Given the description of an element on the screen output the (x, y) to click on. 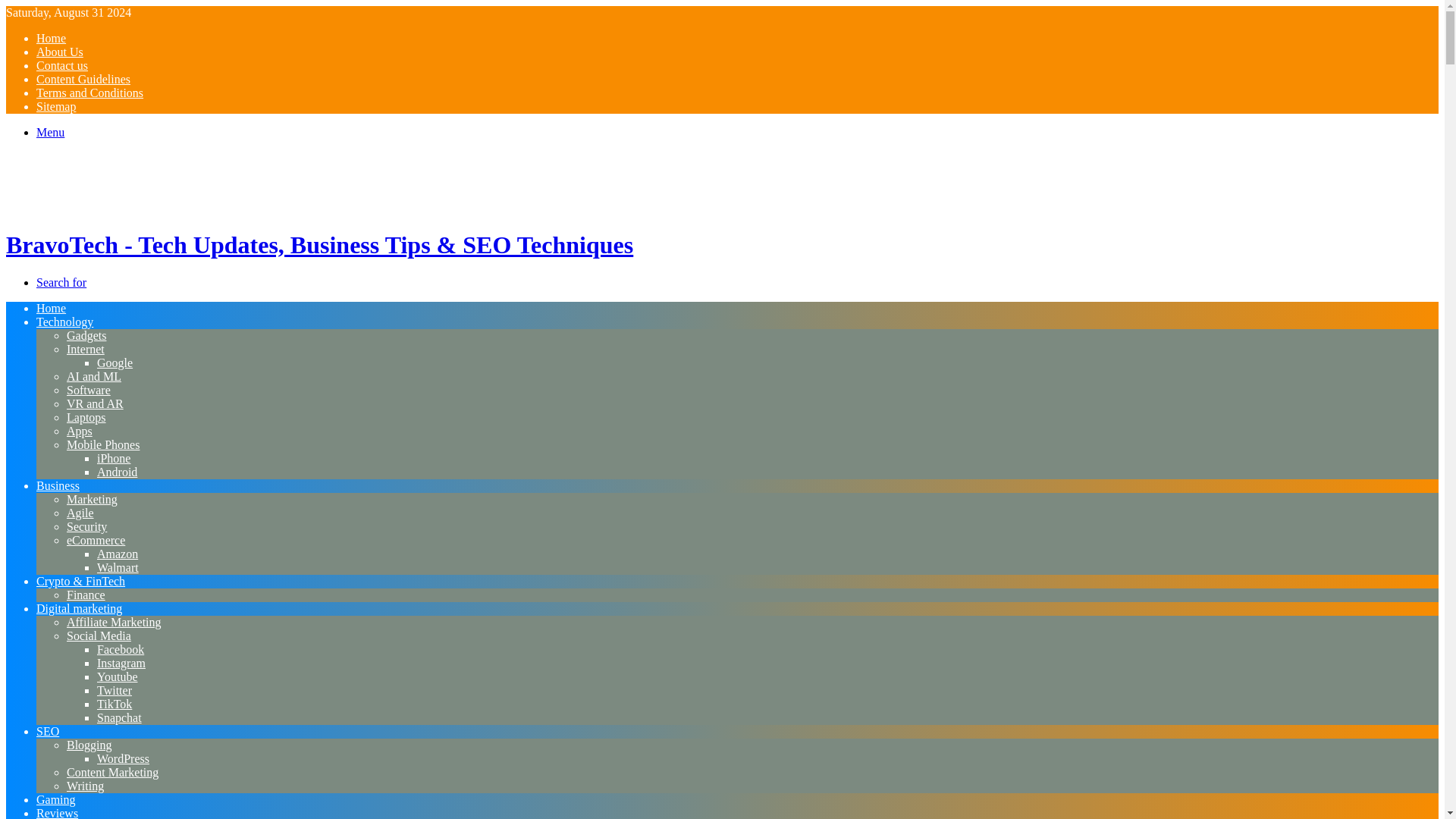
Android (116, 472)
Sitemap (55, 106)
Search for (60, 282)
AI and ML (93, 376)
Digital marketing (79, 608)
TikTok (114, 703)
Apps (79, 431)
Agile (80, 512)
Affiliate Marketing (113, 621)
Content Guidelines (83, 78)
